Given the description of an element on the screen output the (x, y) to click on. 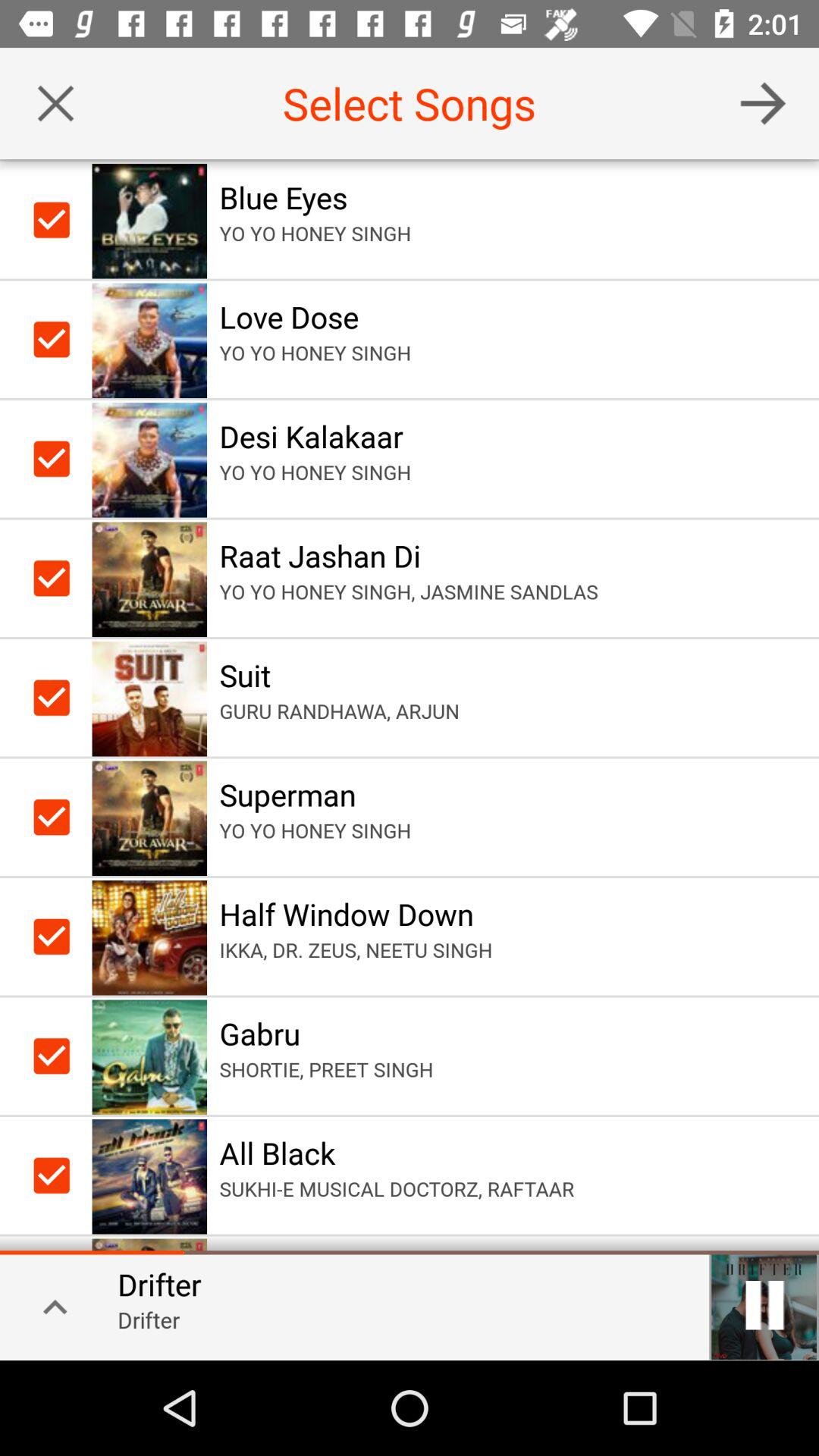
up (49, 1305)
